Given the description of an element on the screen output the (x, y) to click on. 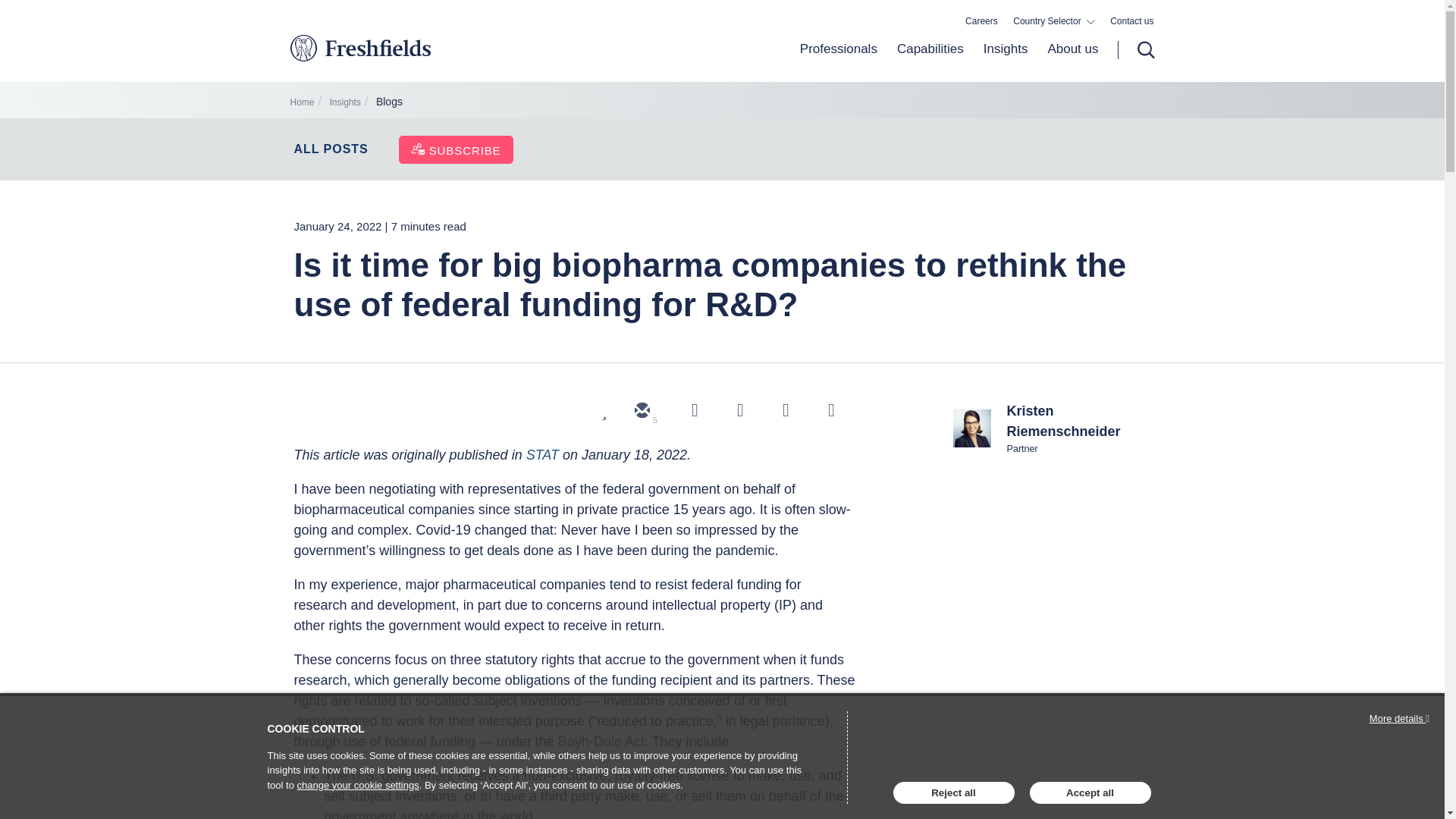
Search (1136, 49)
About us (1066, 60)
Insights (1006, 60)
Country Selector (1053, 21)
Home (301, 102)
Freshfields Bruckhaus Deringer (423, 56)
Capabilities (930, 60)
Careers (981, 21)
Professionals (838, 60)
Careers (981, 21)
Blogs (389, 101)
Insights (345, 102)
Contact us (1131, 21)
